Given the description of an element on the screen output the (x, y) to click on. 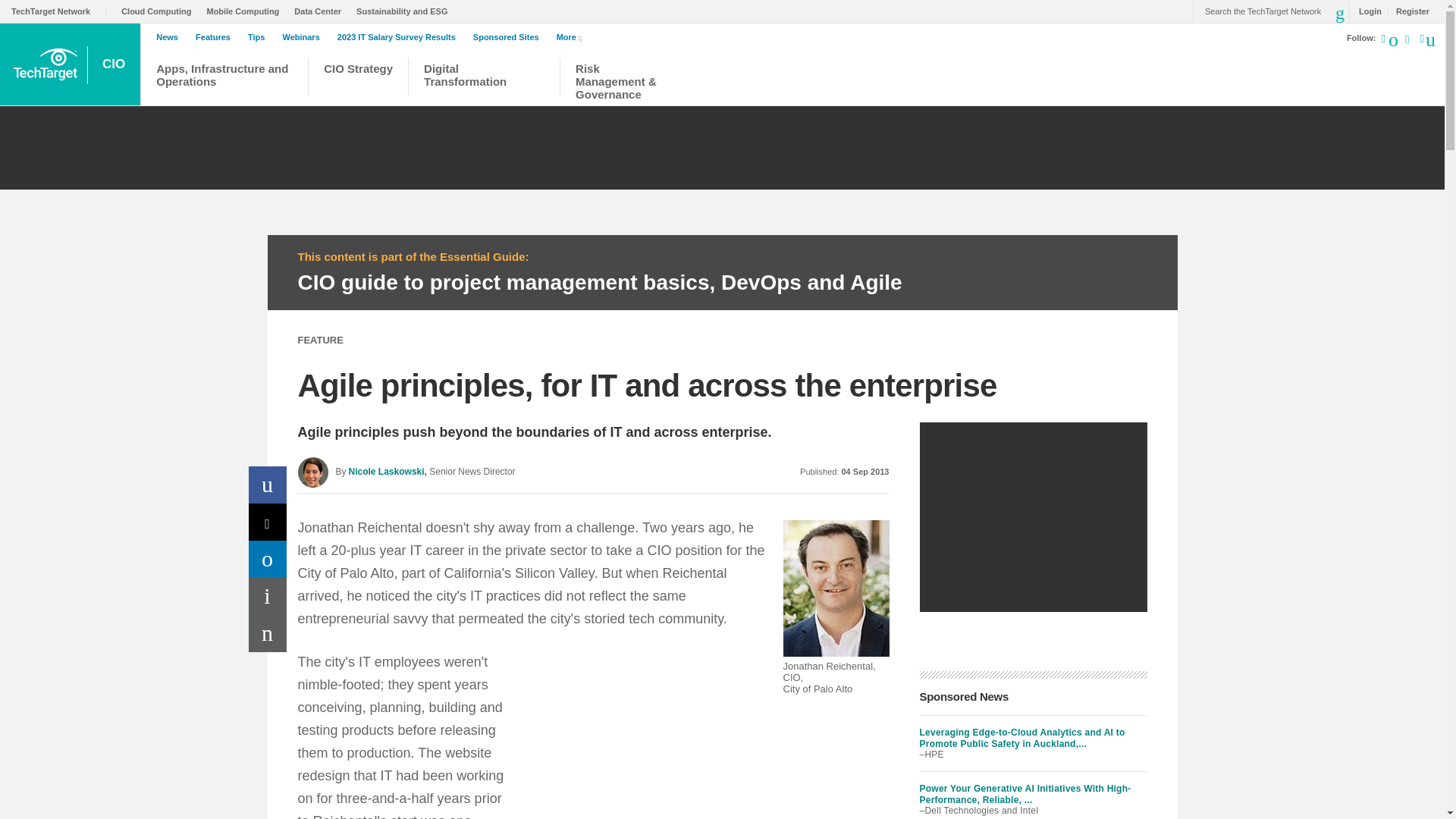
Share on LinkedIn (267, 559)
News (170, 36)
Tips (259, 36)
Cloud Computing (159, 10)
Data Center (321, 10)
Mobile Computing (246, 10)
Share on Facebook (267, 484)
TechTarget Network (58, 10)
Email a Friend (267, 633)
Digital Transformation (483, 79)
